Given the description of an element on the screen output the (x, y) to click on. 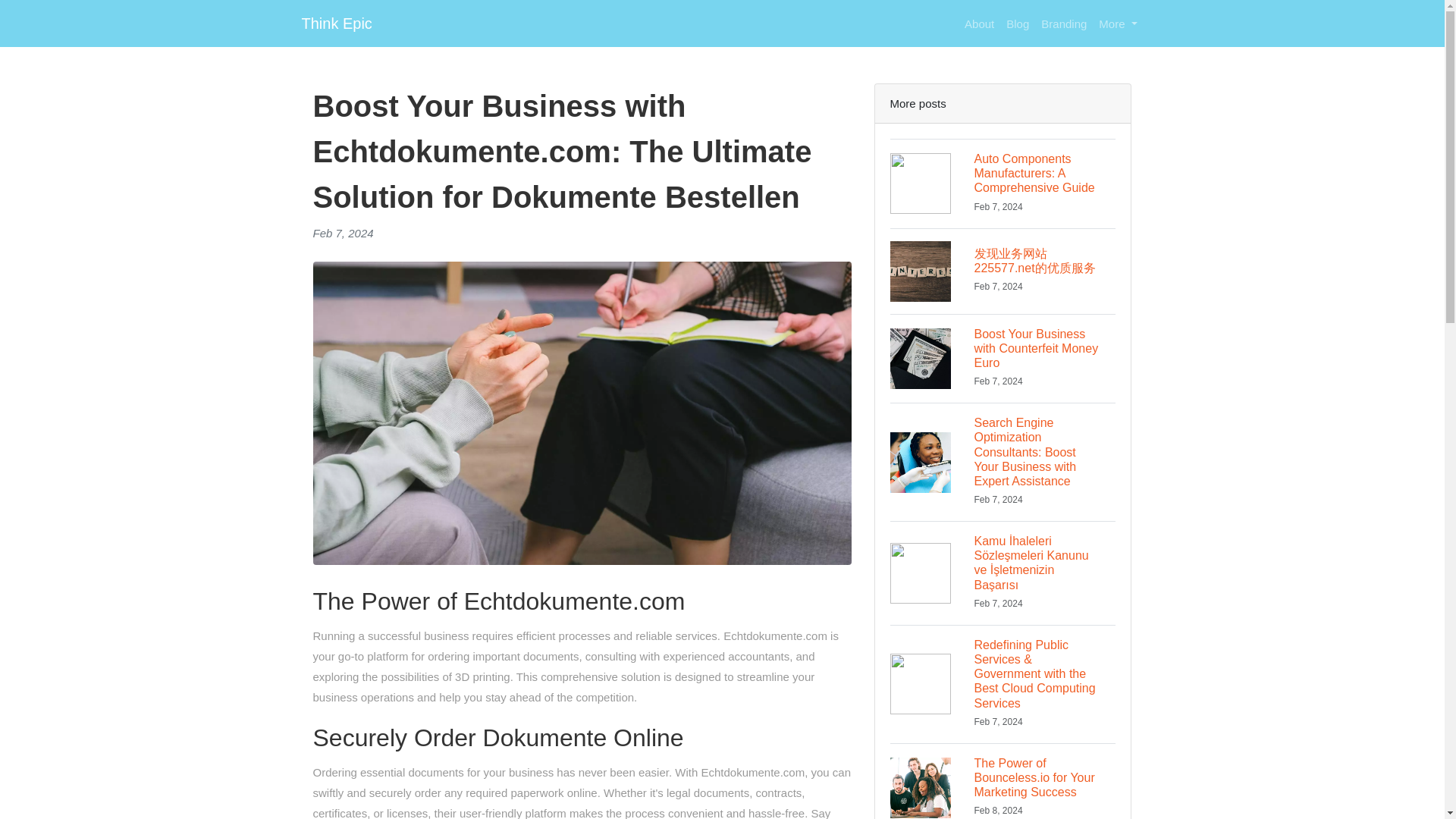
Branding (1064, 23)
Blog (1017, 23)
Think Epic (336, 22)
More (1117, 23)
About (979, 23)
